Given the description of an element on the screen output the (x, y) to click on. 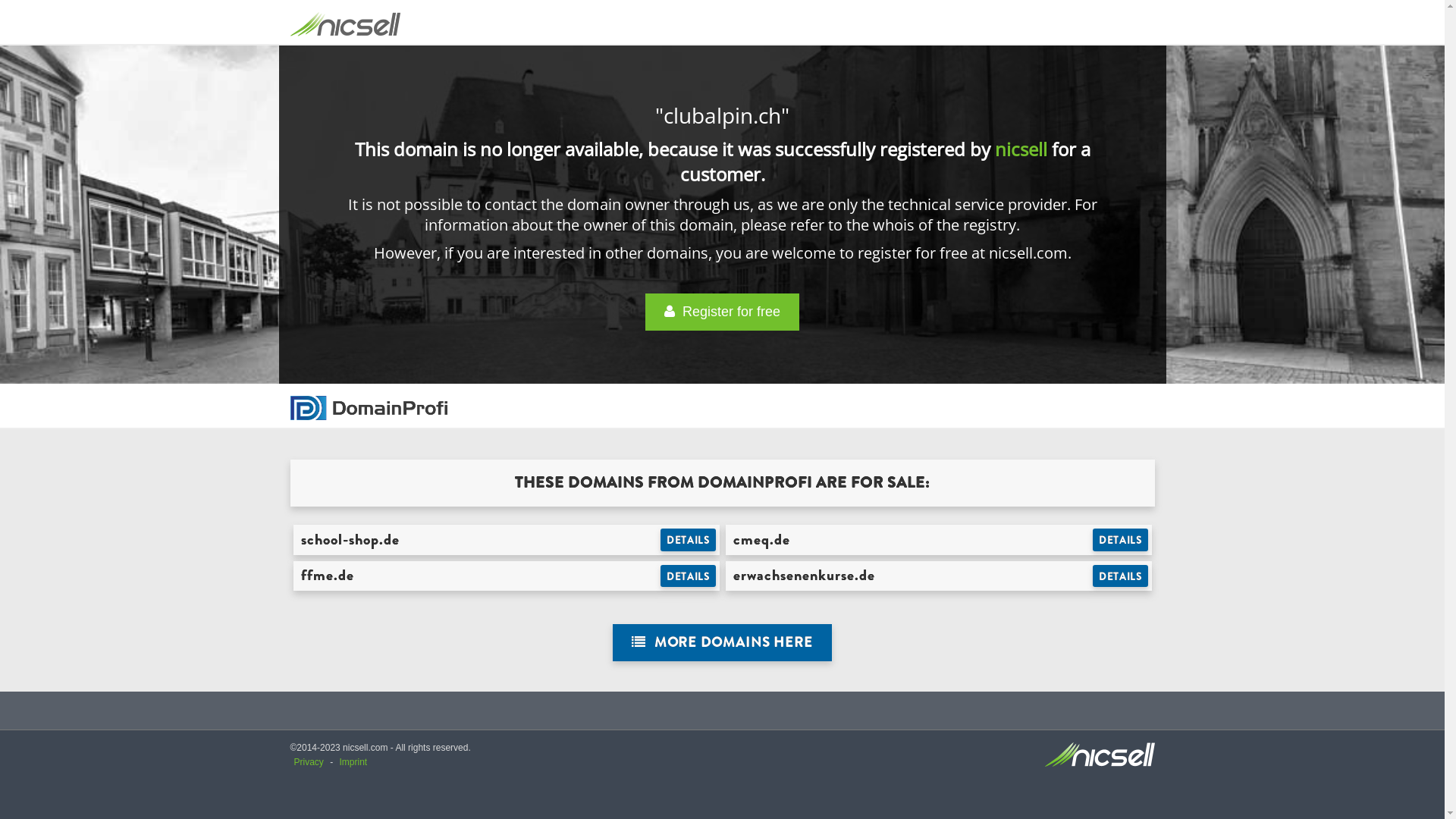
DETAILS Element type: text (687, 539)
Privacy Element type: text (308, 761)
DETAILS Element type: text (687, 575)
Imprint Element type: text (353, 761)
  Register for free Element type: text (722, 311)
nicsell Element type: text (1020, 148)
DETAILS Element type: text (1120, 539)
  MORE DOMAINS HERE Element type: text (721, 642)
DETAILS Element type: text (1120, 575)
